Given the description of an element on the screen output the (x, y) to click on. 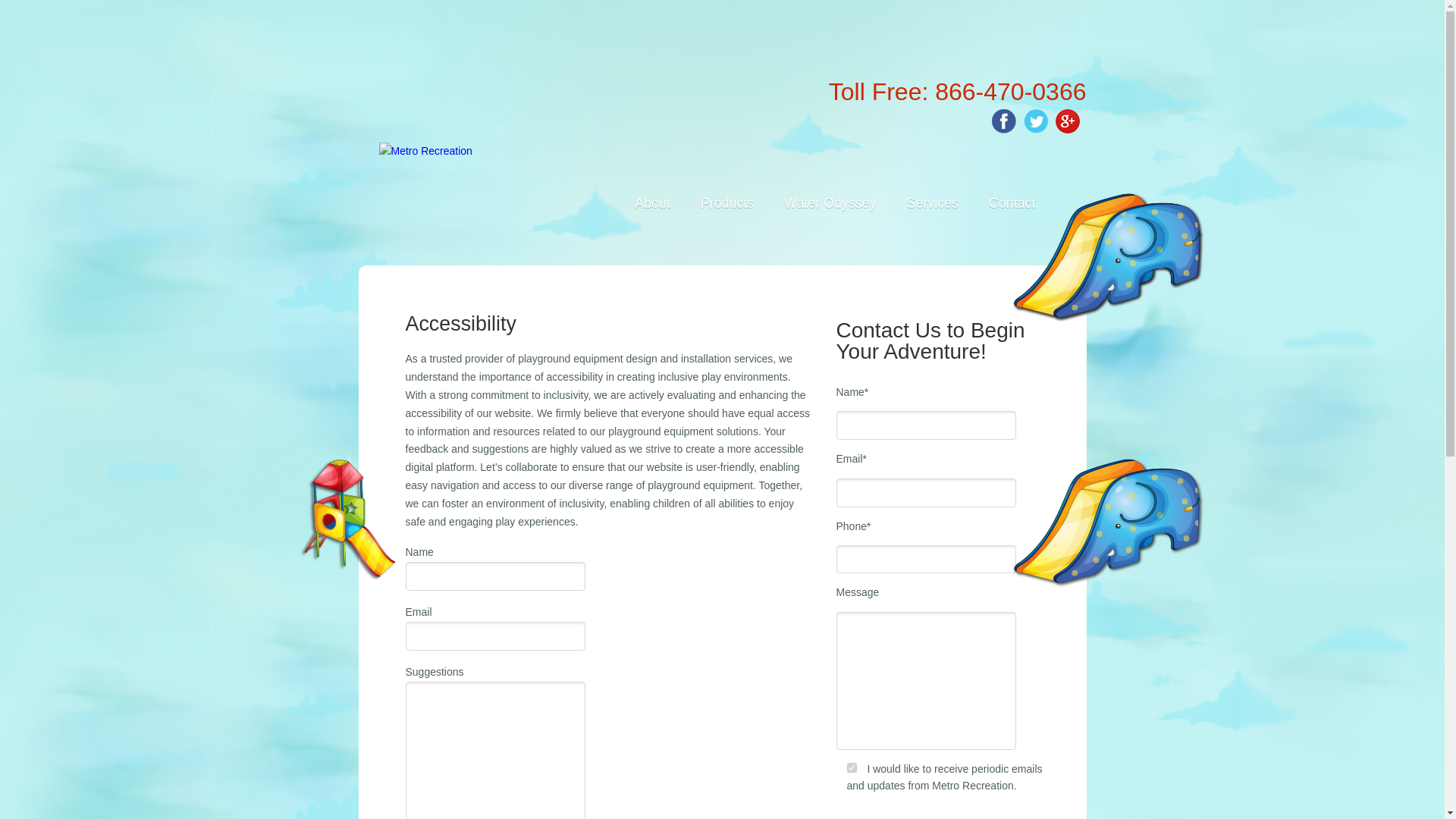
1 (850, 767)
Get Started (884, 815)
Water Odyssey (830, 203)
Products (727, 203)
Get Started (884, 815)
Services (932, 203)
Services (932, 203)
Twitter (1032, 116)
Products (727, 203)
Facebook (1000, 116)
